Given the description of an element on the screen output the (x, y) to click on. 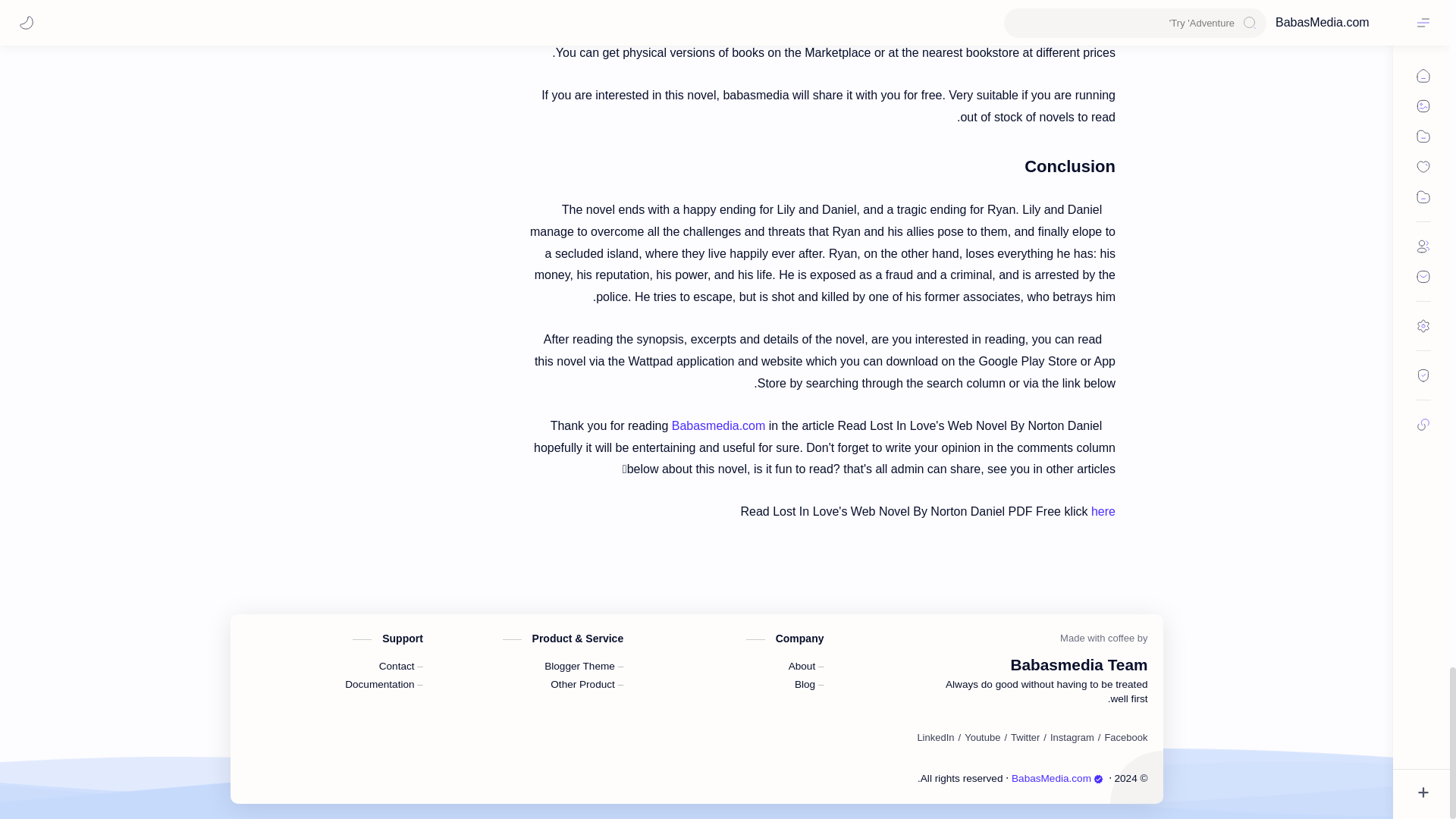
here (1102, 511)
Babasmedia.com (718, 425)
